Given the description of an element on the screen output the (x, y) to click on. 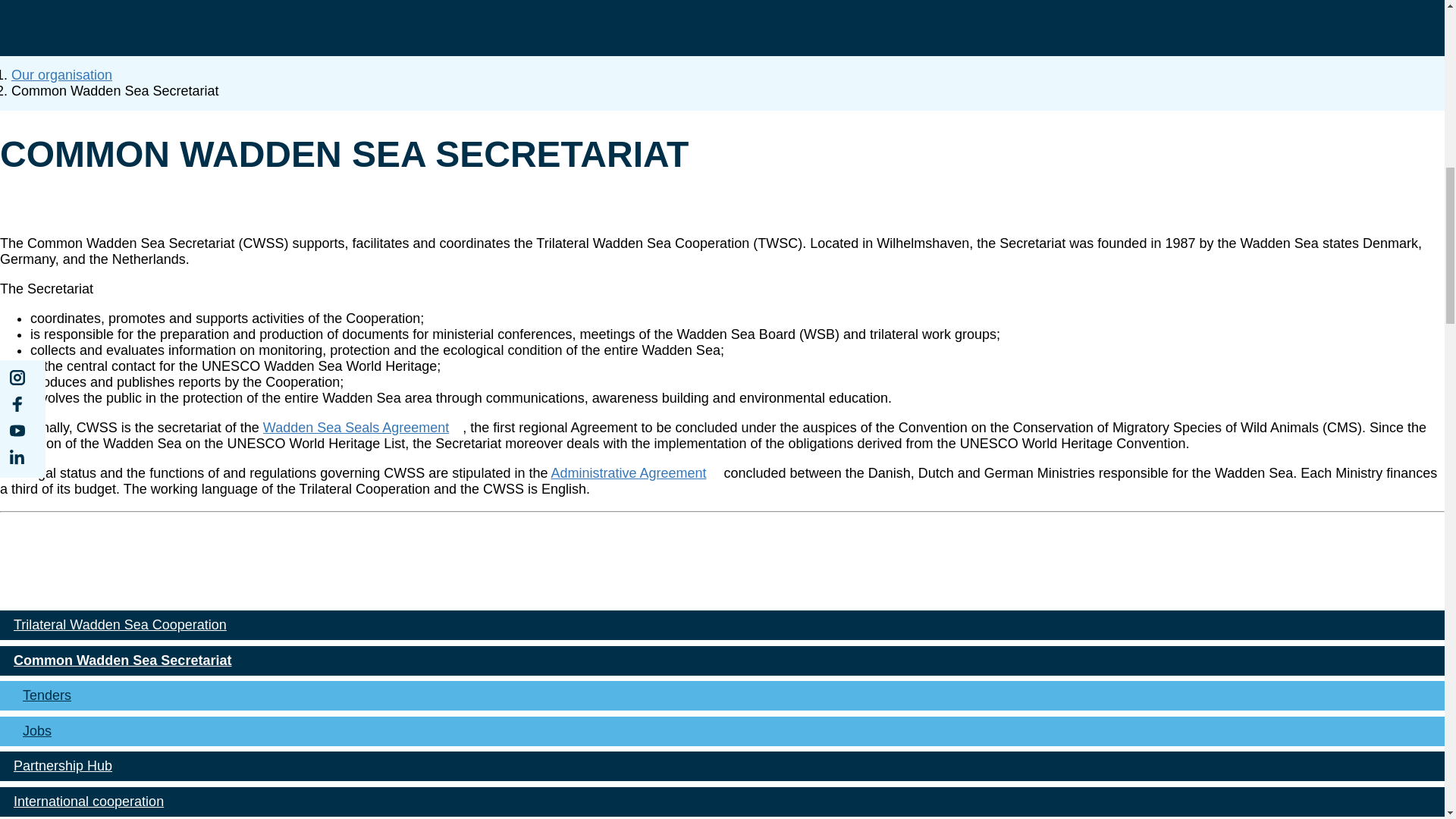
Our organisation (61, 74)
